Given the description of an element on the screen output the (x, y) to click on. 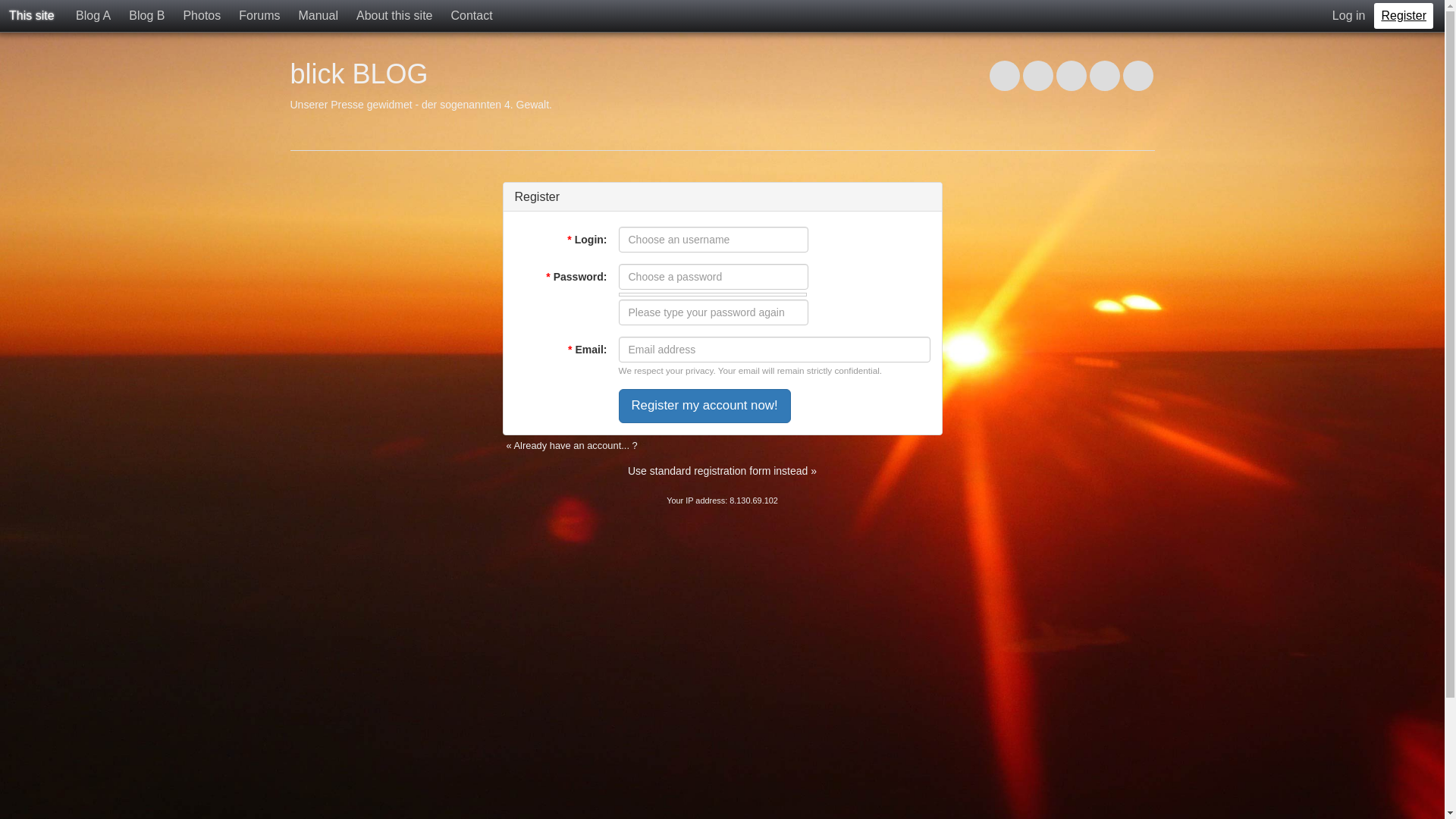
Forums Element type: text (258, 15)
Manual Element type: text (317, 15)
Blog B Element type: text (146, 15)
blick BLOG Element type: text (358, 73)
Log in Element type: text (1348, 15)
Blog A Element type: text (92, 15)
This site Element type: text (31, 15)
About this site Element type: text (394, 15)
Photos Element type: text (201, 15)
Contact Element type: text (471, 15)
Register Element type: text (1403, 15)
Register my account now! Element type: text (704, 405)
